Given the description of an element on the screen output the (x, y) to click on. 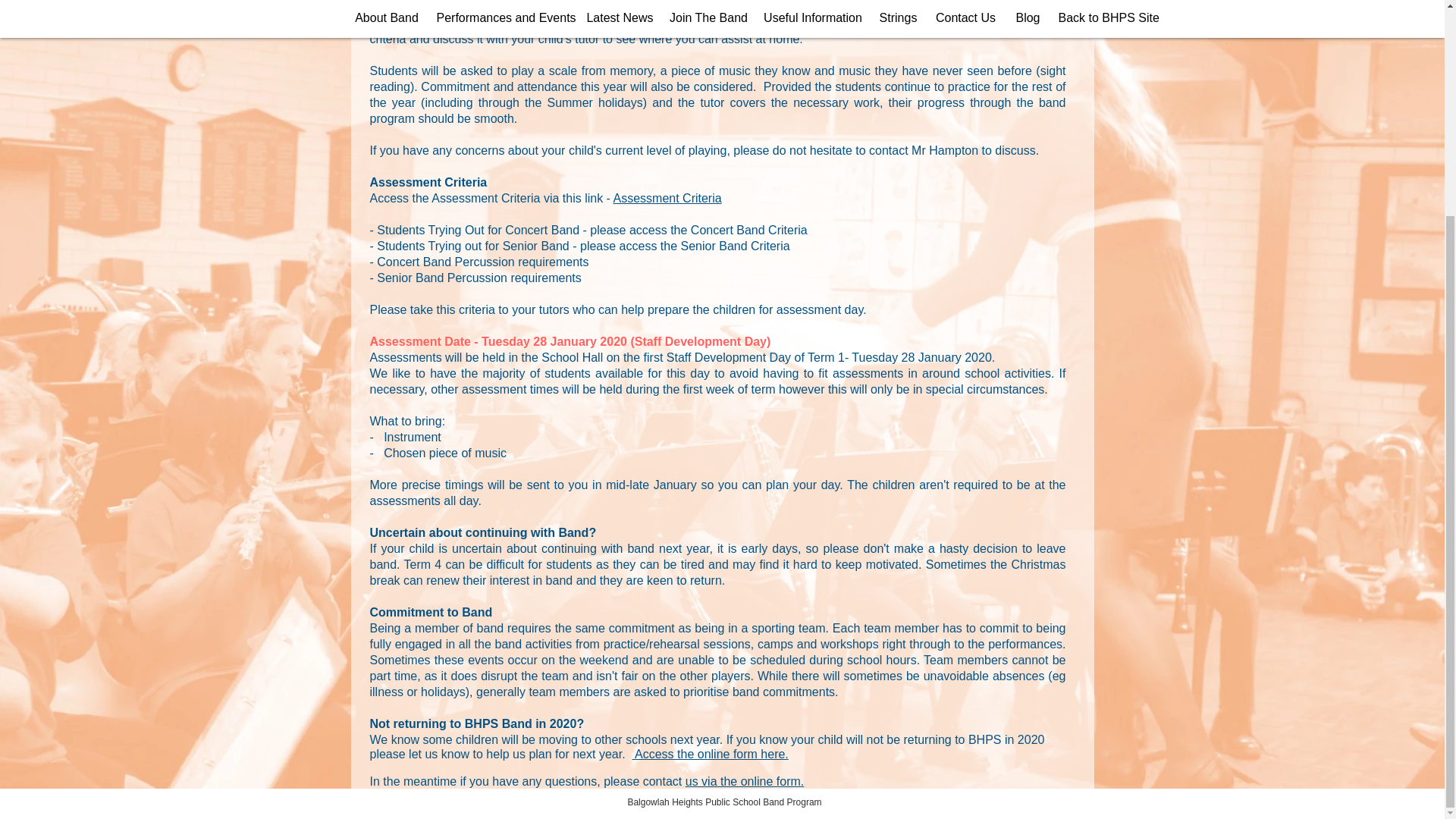
us via the online form. (745, 780)
- Concert Band Percussion requirements (479, 261)
 Access the online form here. (709, 753)
Assessment Criteria (666, 197)
please access the Concert Band Criteria (697, 229)
- Senior Band Percussion requirements (474, 277)
please access the Senior Band Criteria (684, 245)
